Given the description of an element on the screen output the (x, y) to click on. 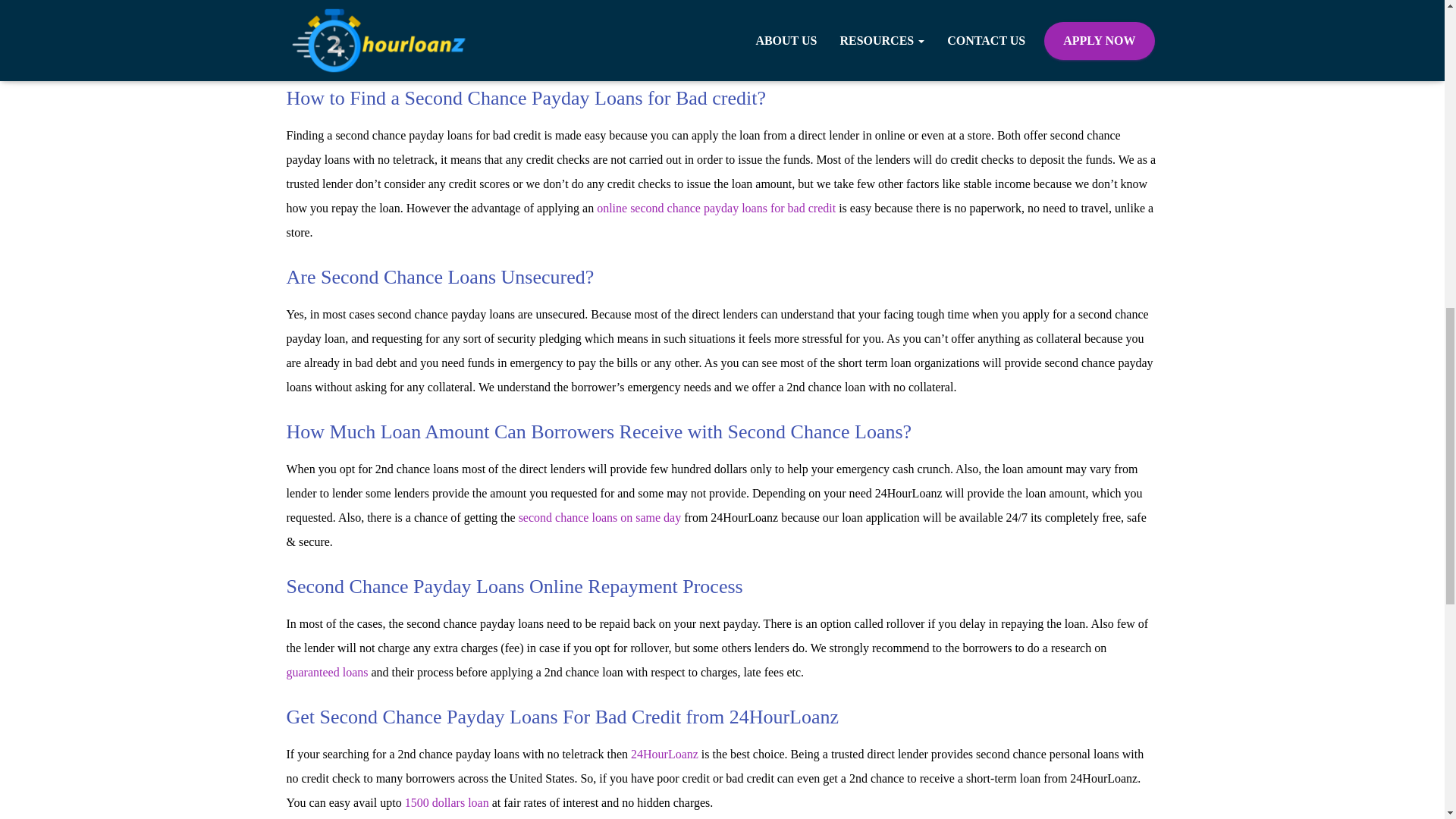
1500 dollars loan (446, 802)
online second chance payday loans for bad credit (715, 207)
online bad credit loans (794, 21)
guaranteed loans (327, 671)
24HourLoanz (664, 753)
second chance loans on same day (599, 517)
